Given the description of an element on the screen output the (x, y) to click on. 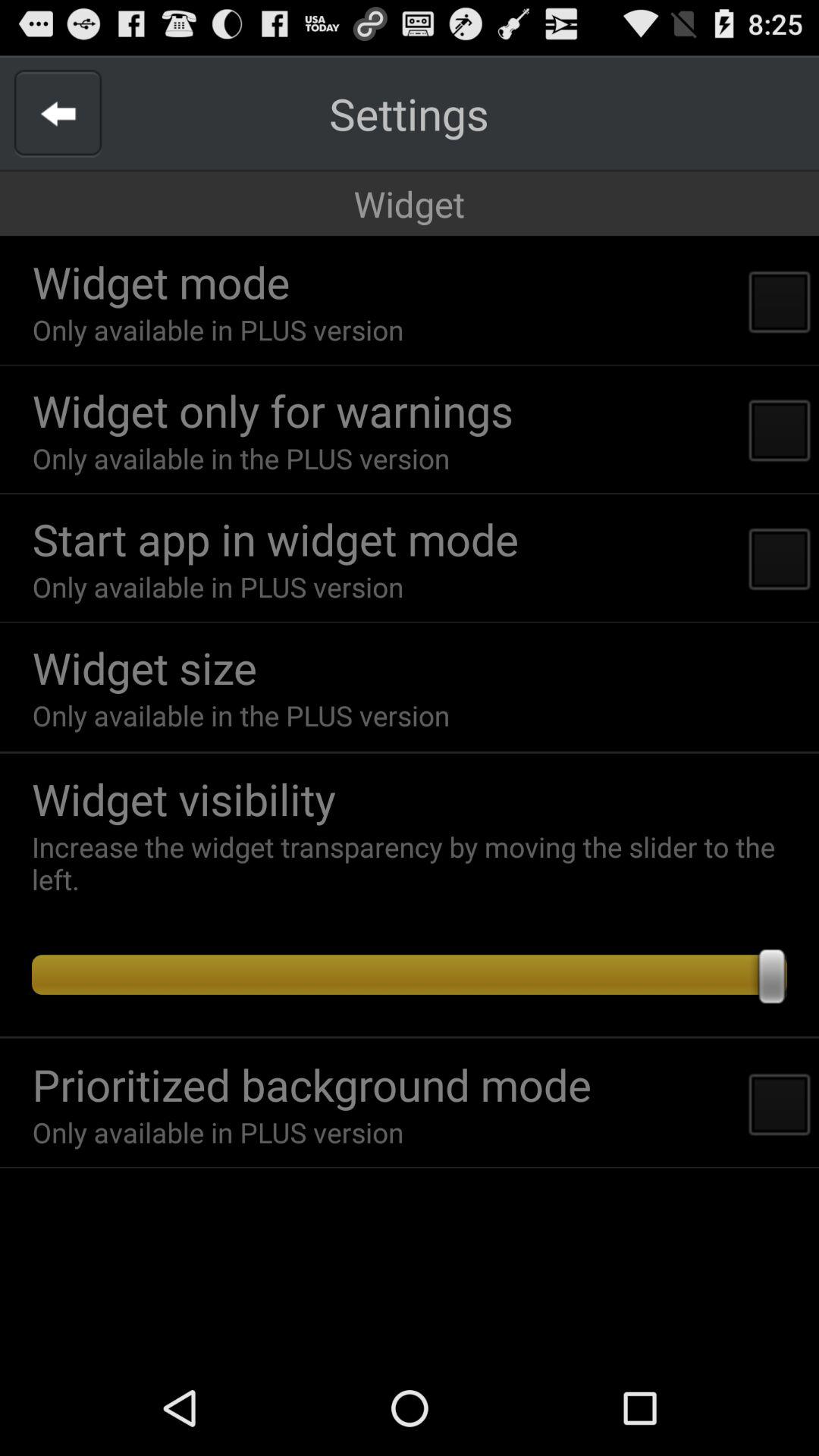
open icon above only available in icon (272, 410)
